Given the description of an element on the screen output the (x, y) to click on. 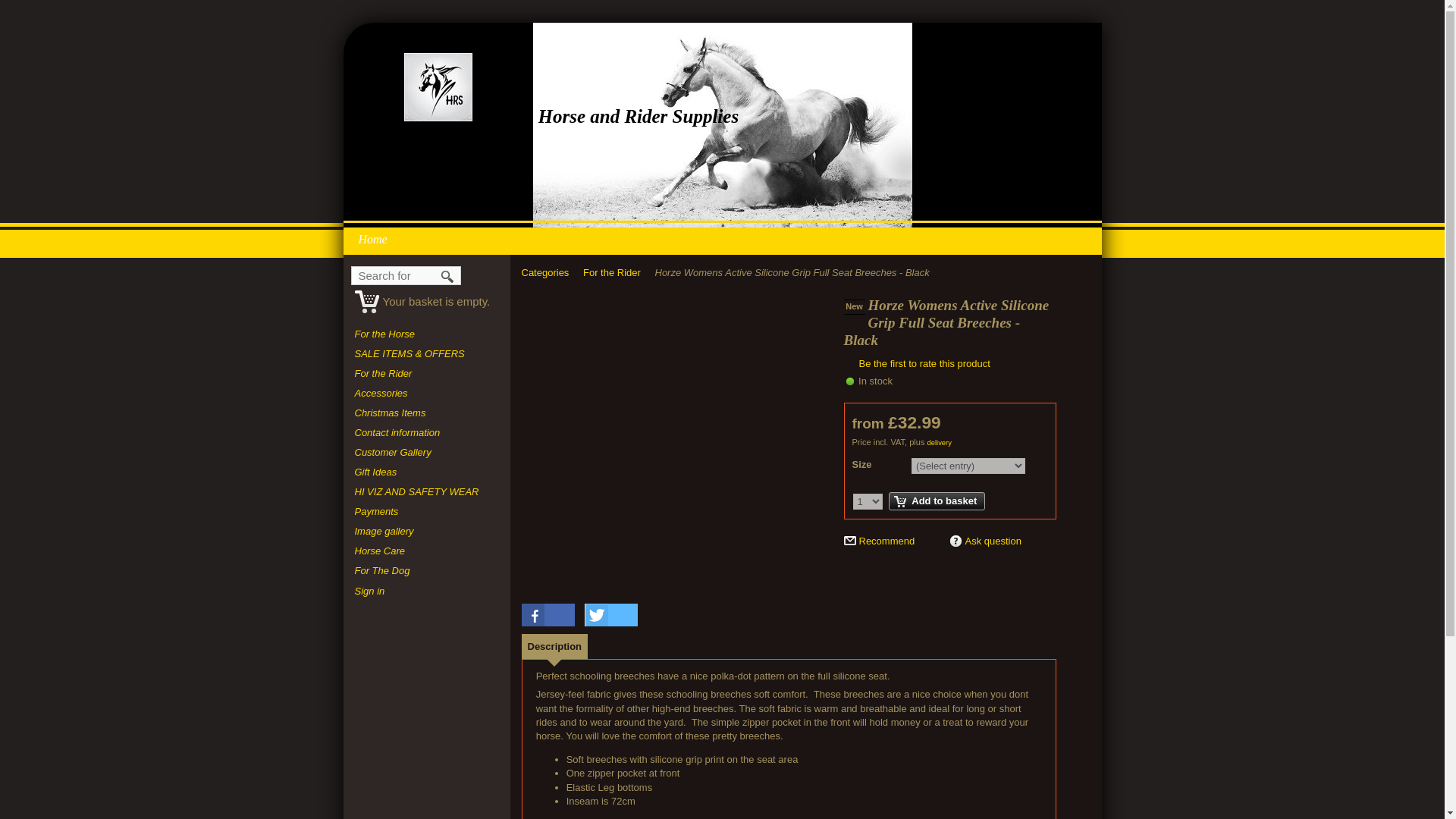
Home (376, 238)
Horse and Rider Supplies (638, 116)
Horse and Rider Supplies (437, 87)
For the Horse (427, 333)
Start search (448, 276)
Horse and Rider Supplies (638, 116)
